Given the description of an element on the screen output the (x, y) to click on. 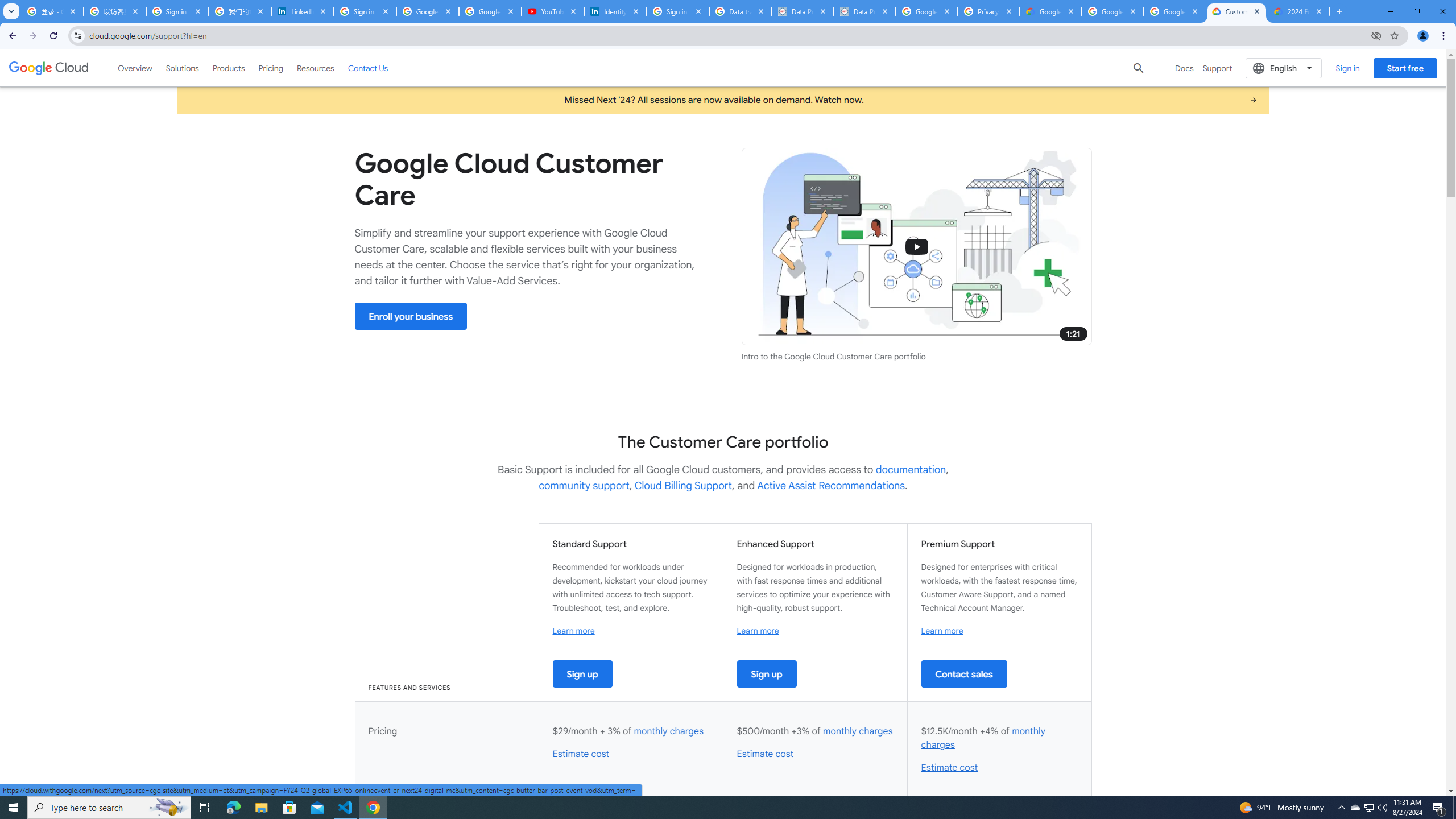
Resources (314, 67)
Pricing (270, 67)
Enroll your business (410, 316)
Solutions (181, 67)
Support (1216, 67)
Google Workspace - Specific Terms (1111, 11)
